Given the description of an element on the screen output the (x, y) to click on. 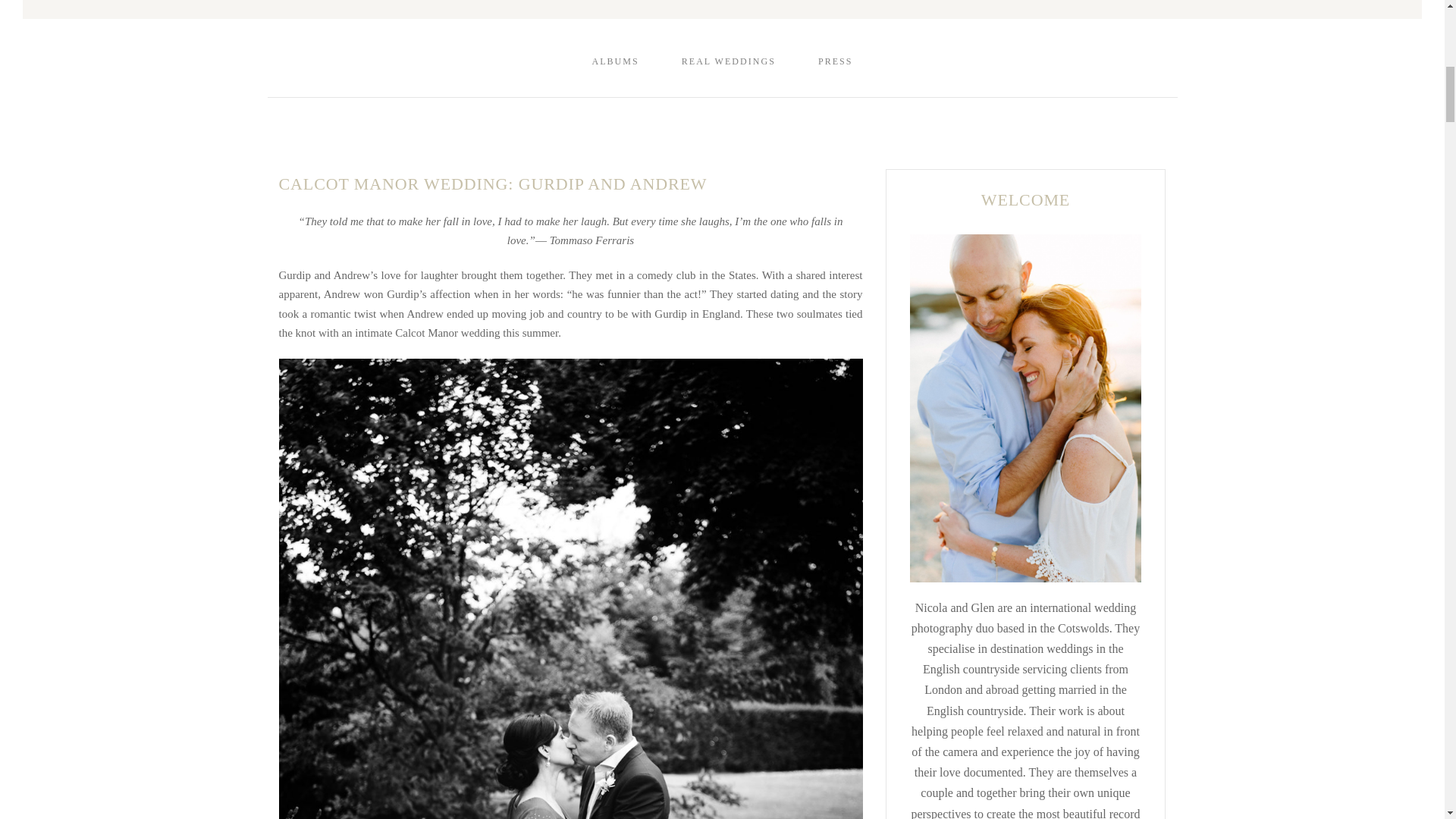
ALBUMS (615, 61)
REAL WEDDINGS (728, 61)
PRESS (835, 61)
